Given the description of an element on the screen output the (x, y) to click on. 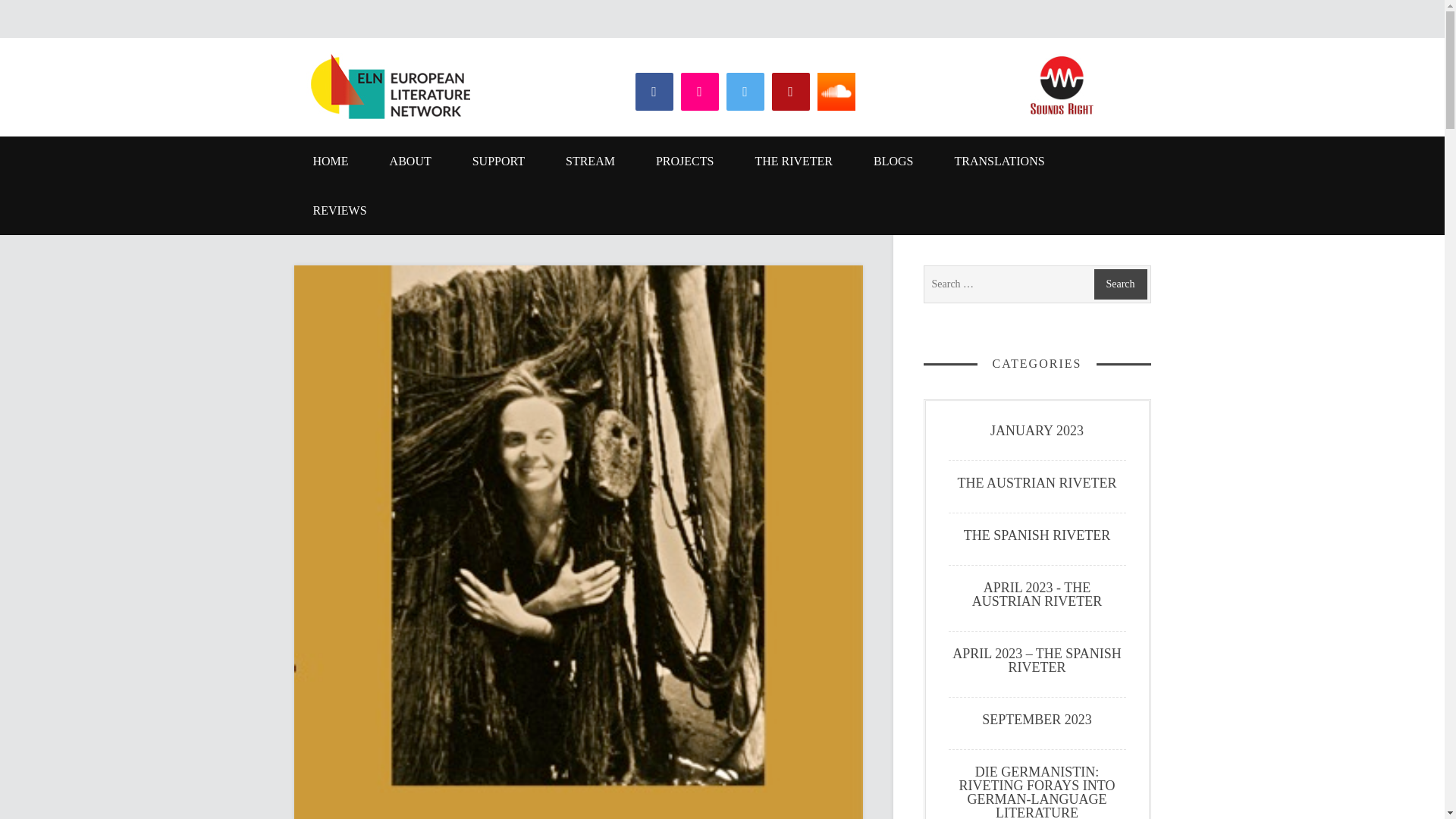
HOME (331, 160)
Search (1120, 284)
ABOUT (410, 160)
STREAM (590, 160)
Search (1120, 284)
SUPPORT (497, 160)
